Given the description of an element on the screen output the (x, y) to click on. 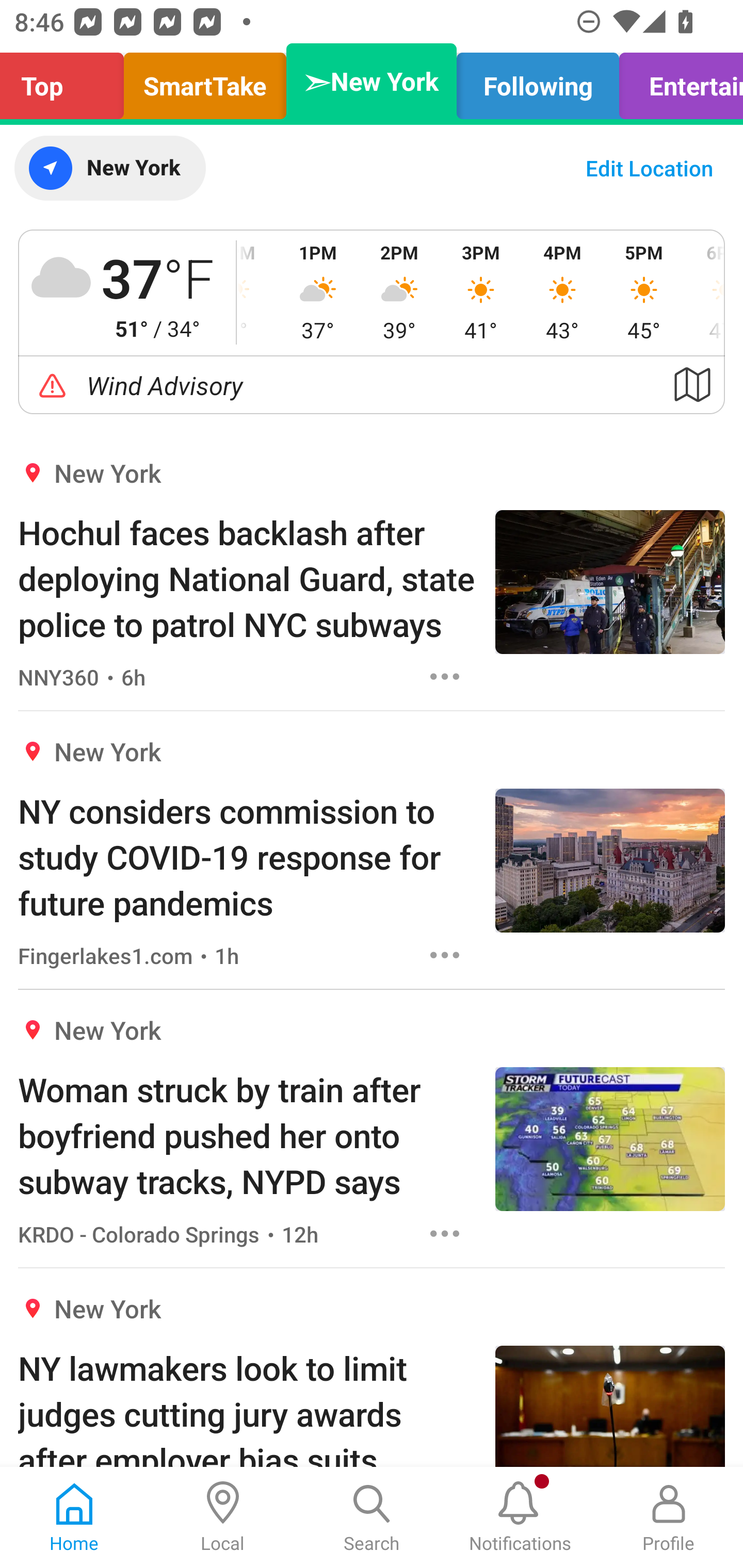
Top (67, 81)
SmartTake (204, 81)
➣New York (371, 81)
Following (537, 81)
New York (109, 168)
Edit Location (648, 168)
1PM 37° (317, 291)
2PM 39° (398, 291)
3PM 41° (480, 291)
4PM 43° (562, 291)
5PM 45° (644, 291)
Wind Advisory (371, 384)
Options (444, 676)
Options (444, 954)
Options (444, 1233)
Local (222, 1517)
Search (371, 1517)
Notifications, New notification Notifications (519, 1517)
Profile (668, 1517)
